Given the description of an element on the screen output the (x, y) to click on. 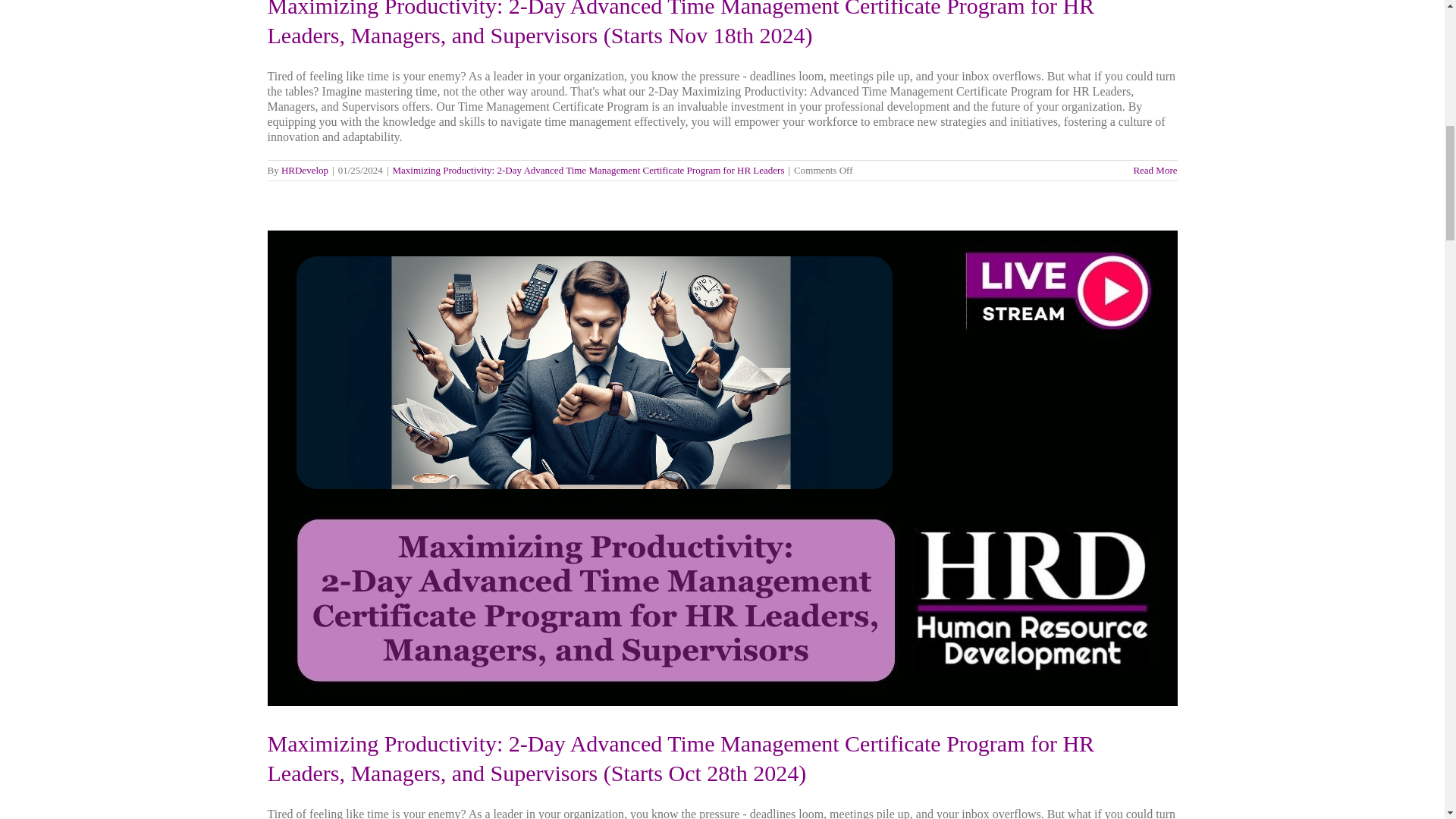
HRDevelop (305, 170)
Read More (1154, 170)
Posts by HRDevelop (305, 170)
